Given the description of an element on the screen output the (x, y) to click on. 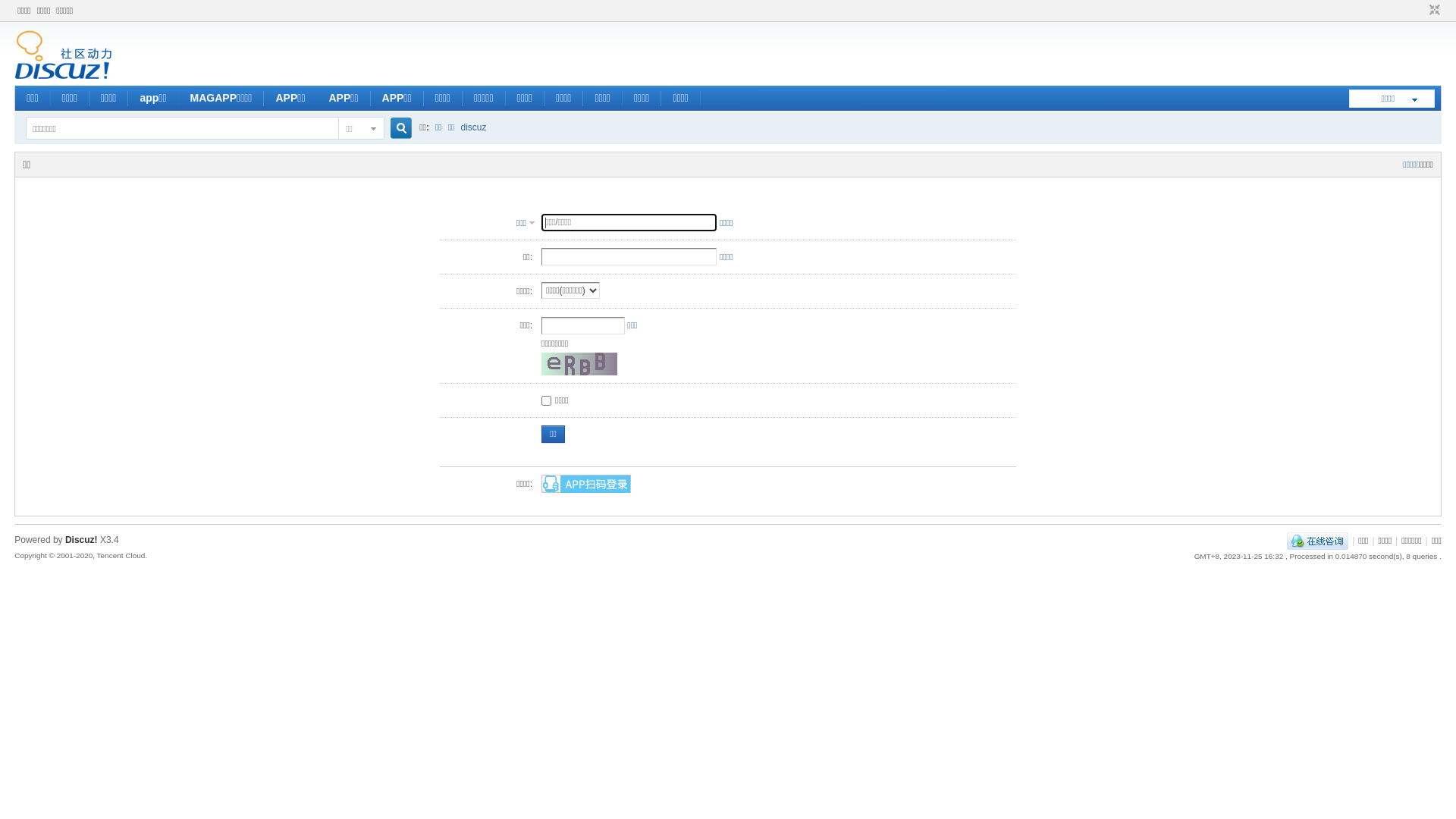
QQ Element type: hover (1317, 540)
true Element type: text (395, 128)
discuz Element type: text (473, 127)
Discuz! Element type: text (81, 539)
